Given the description of an element on the screen output the (x, y) to click on. 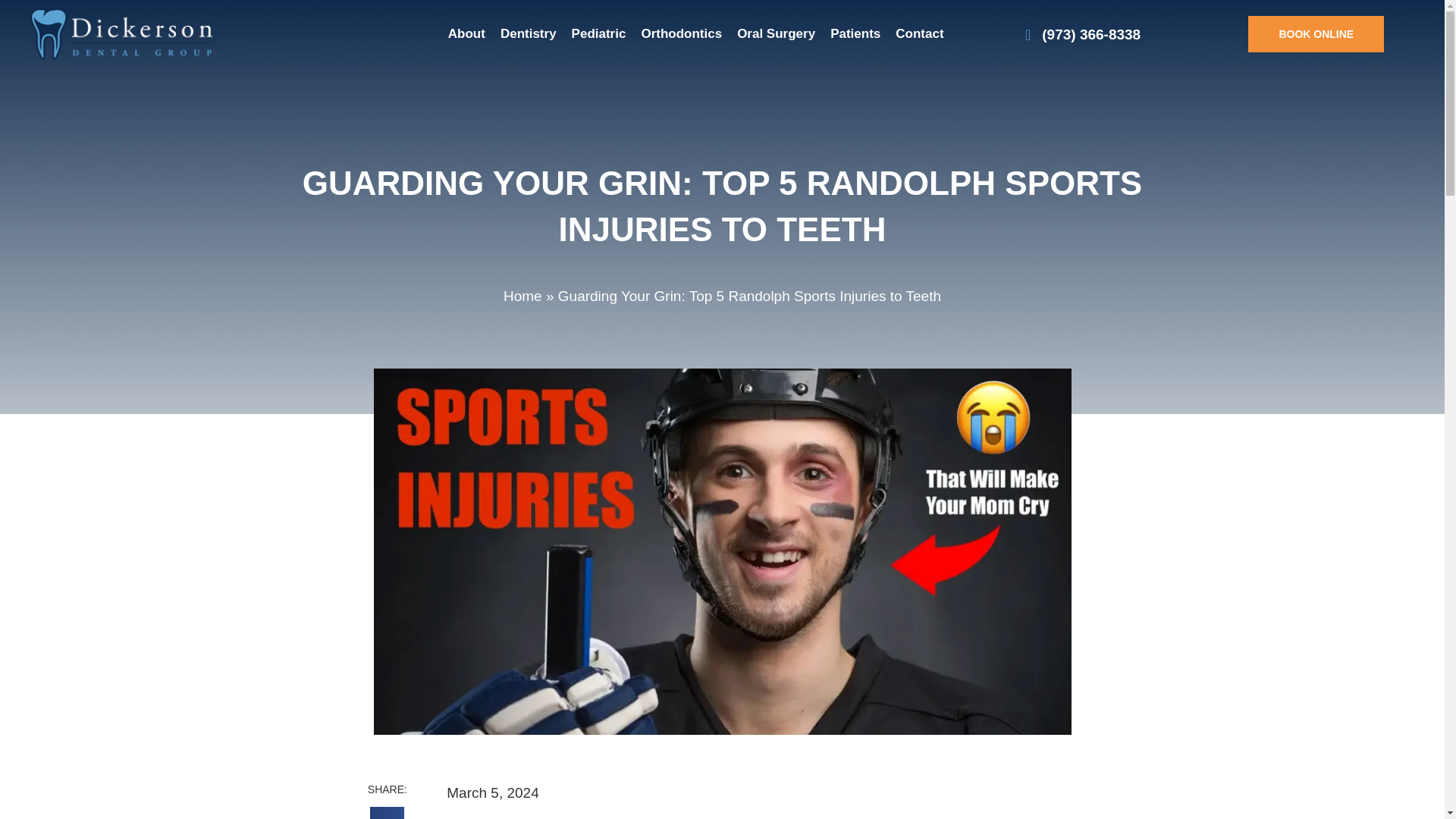
Orthodontics (681, 34)
Oral Surgery (775, 34)
Pediatric (598, 34)
Dentistry (528, 34)
